Given the description of an element on the screen output the (x, y) to click on. 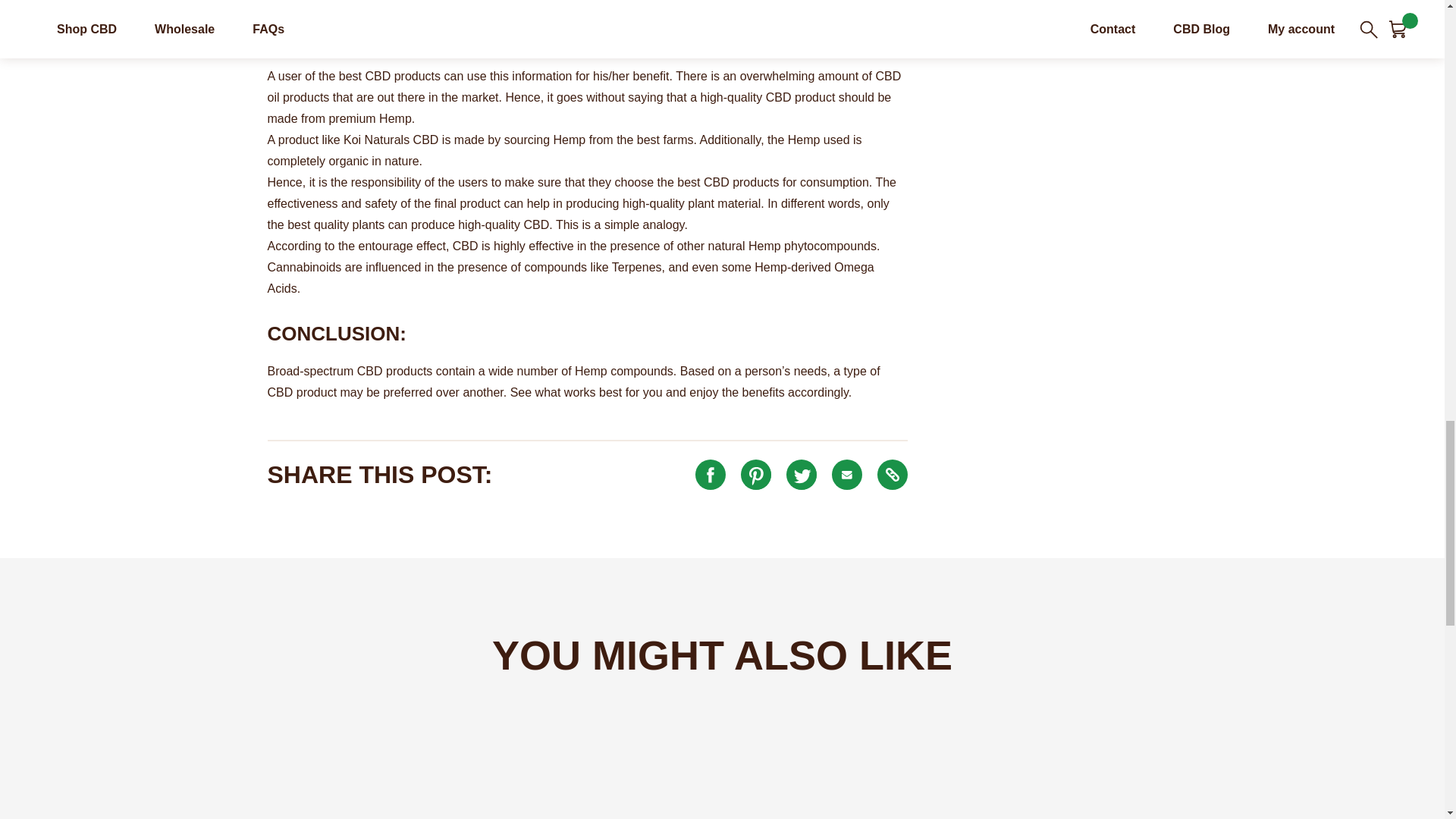
Share this post via Email (846, 474)
Share this post on Twitter (801, 474)
Pin this post on Pinterest (756, 474)
Share this post on Facebook (710, 474)
Copy this post to your clipboard (892, 474)
